Given the description of an element on the screen output the (x, y) to click on. 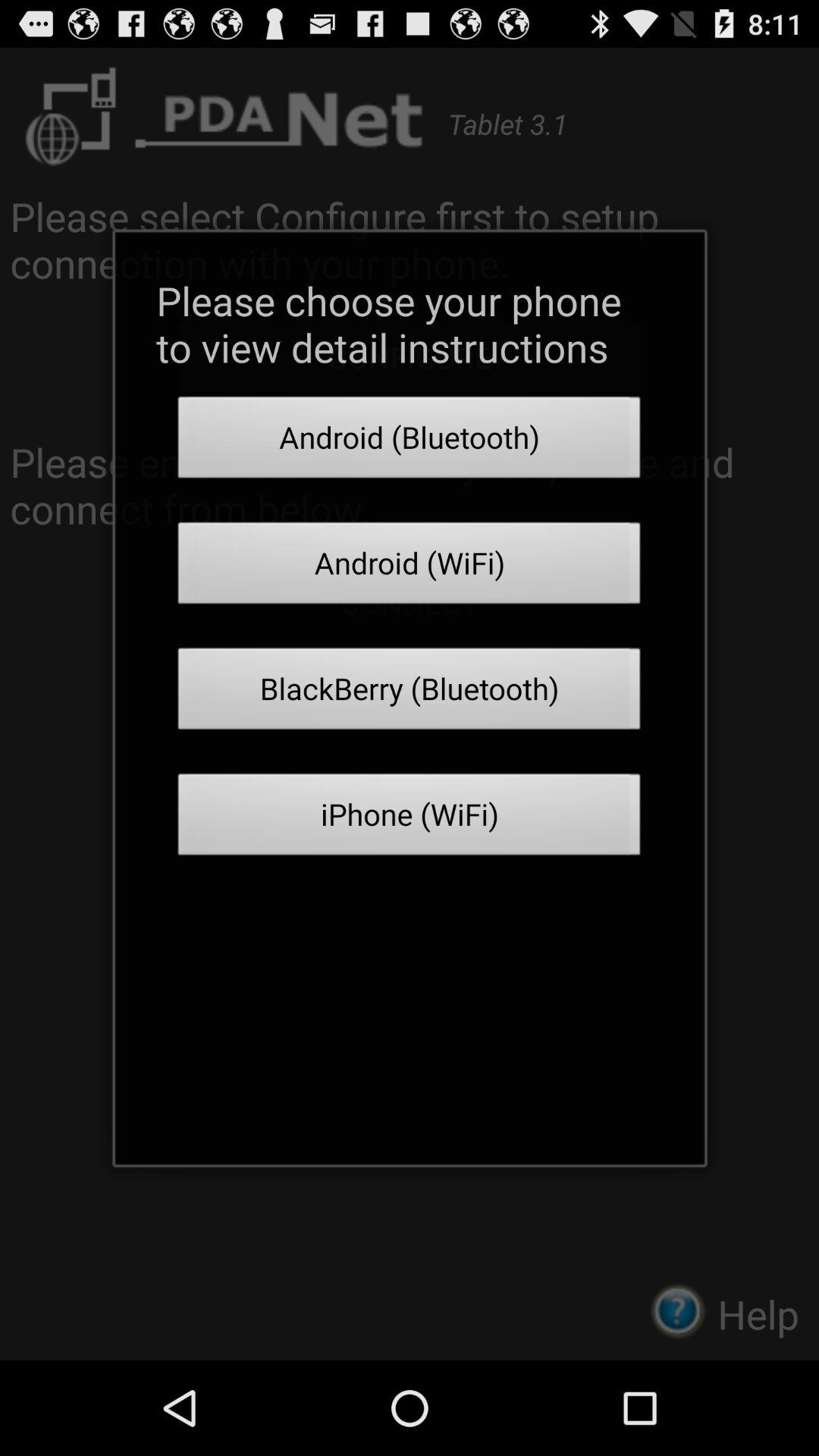
scroll until iphone (wifi) item (409, 818)
